Given the description of an element on the screen output the (x, y) to click on. 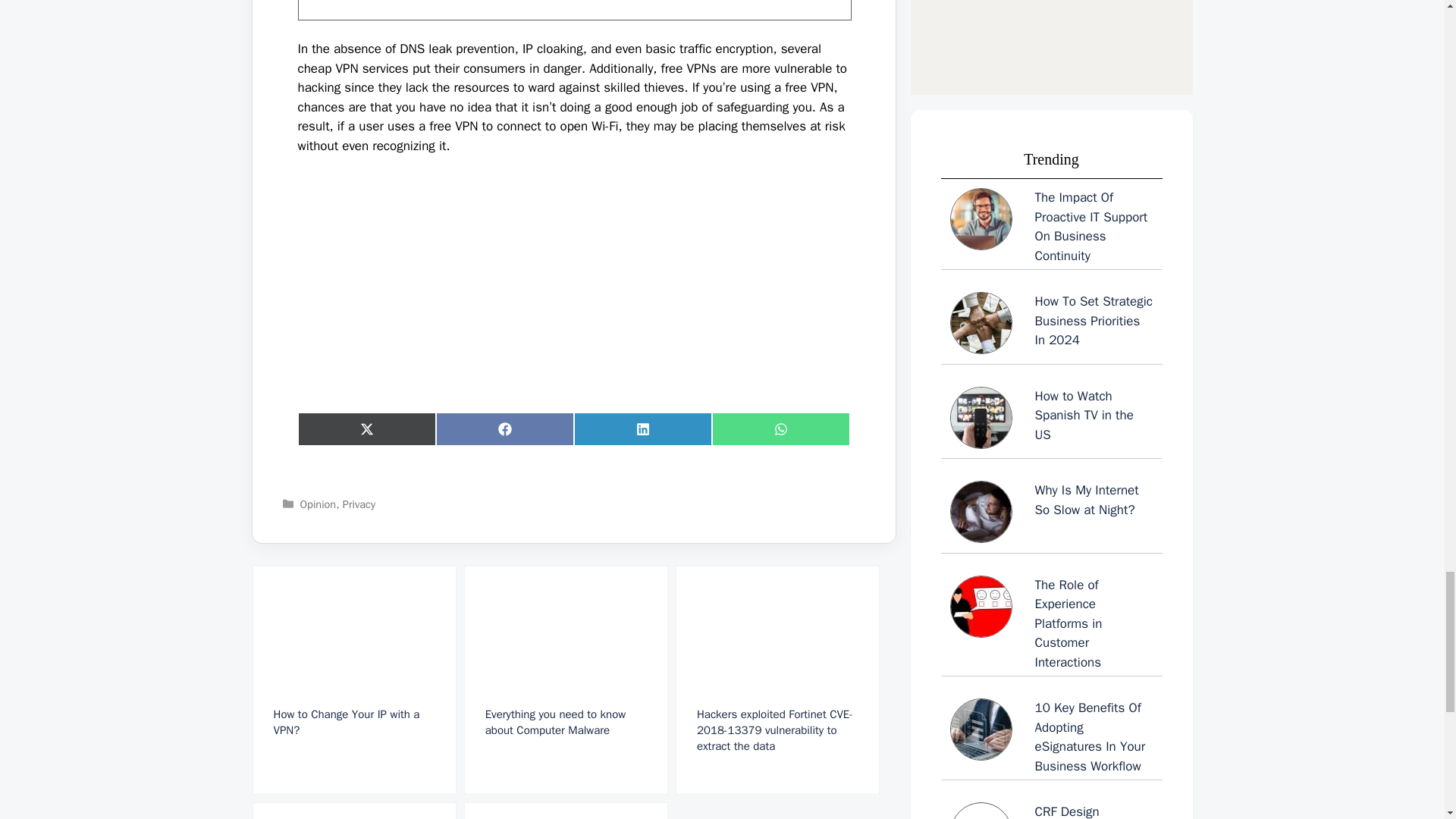
Opinion (317, 504)
Bots And Cyber Security (353, 810)
Everything you need to know about Computer Malware (566, 679)
How to Change Your IP with a VPN? (353, 679)
SHARE ON FACEBOOK (504, 428)
How to Change Your IP with a VPN? (353, 679)
Privacy (358, 504)
SHARE ON LINKEDIN (642, 428)
Can We Trust TikTok? (566, 810)
what is a vpn x (573, 9)
SHARE ON WHATSAPP (779, 428)
